Given the description of an element on the screen output the (x, y) to click on. 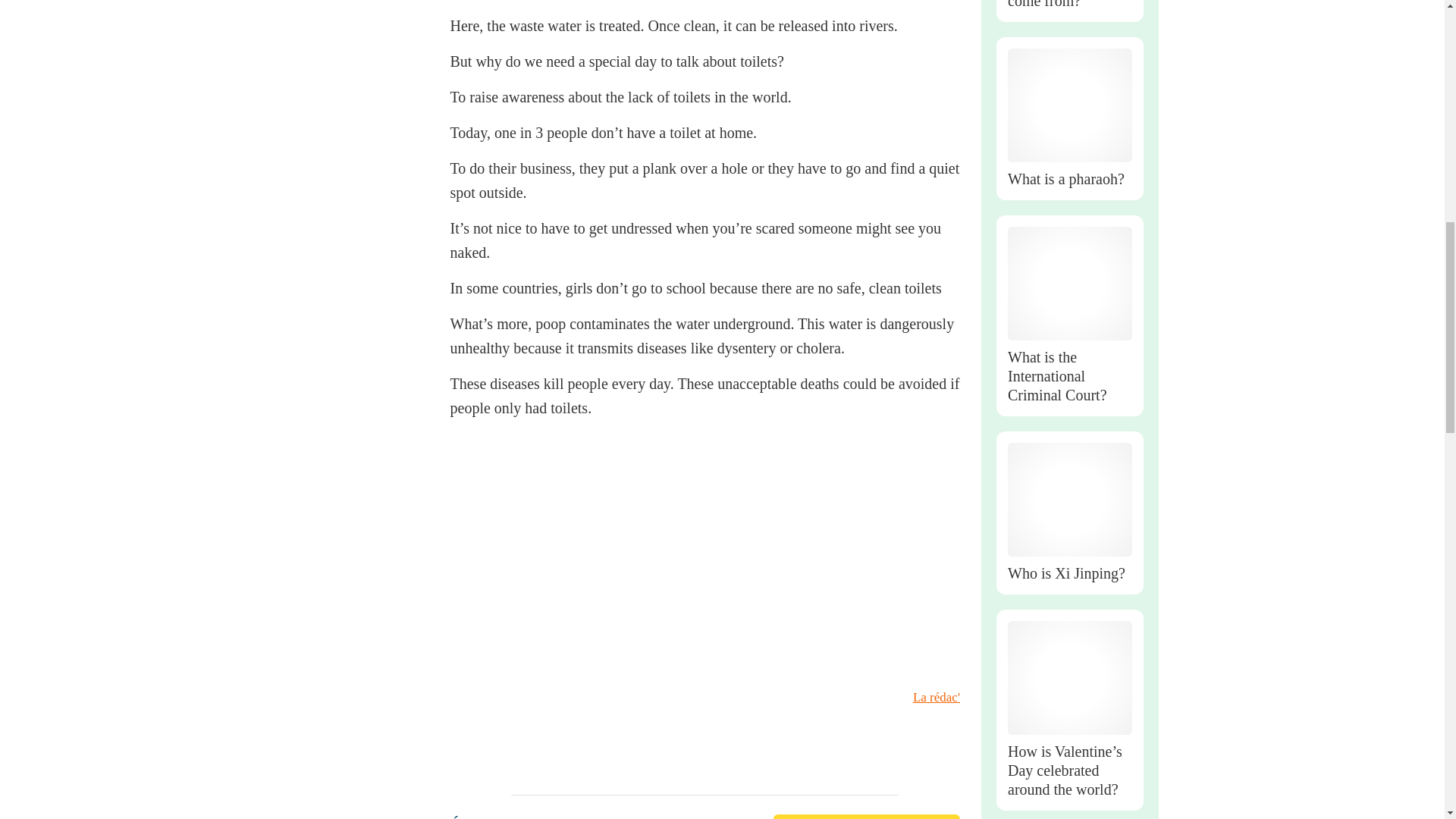
Who is Xi Jinping? (1069, 499)
Who is Xi Jinping? (1069, 573)
What is a pharaoh? (1069, 105)
What is a pharaoh? (1069, 179)
Where does cotton come from? (1069, 5)
What is the International Criminal Court? (1069, 376)
What is the International Criminal Court? (1069, 283)
